Given the description of an element on the screen output the (x, y) to click on. 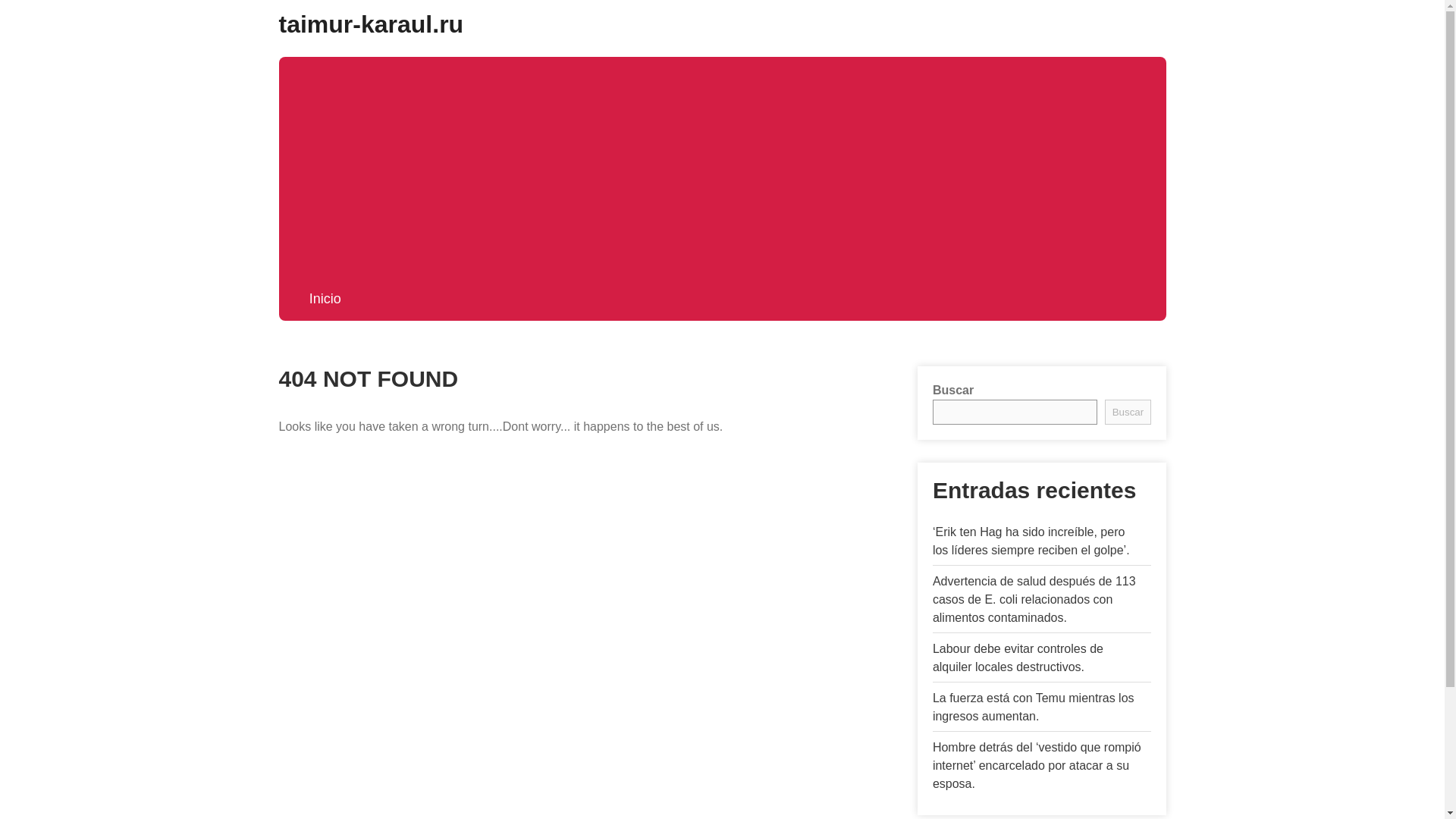
Buscar (1127, 412)
taimur-karaul.ru (371, 23)
Inicio (324, 298)
